Given the description of an element on the screen output the (x, y) to click on. 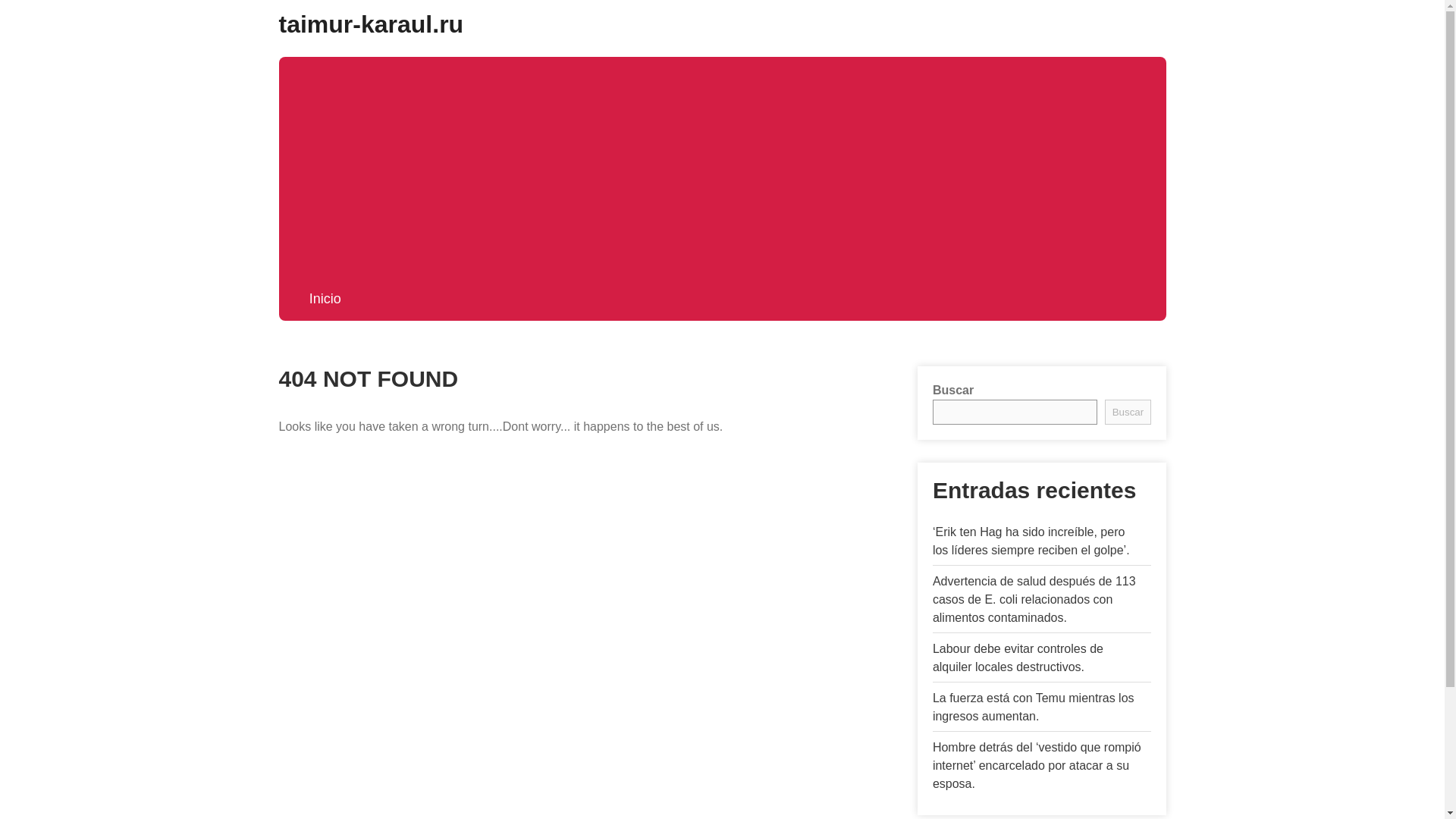
Buscar (1127, 412)
taimur-karaul.ru (371, 23)
Inicio (324, 298)
